Given the description of an element on the screen output the (x, y) to click on. 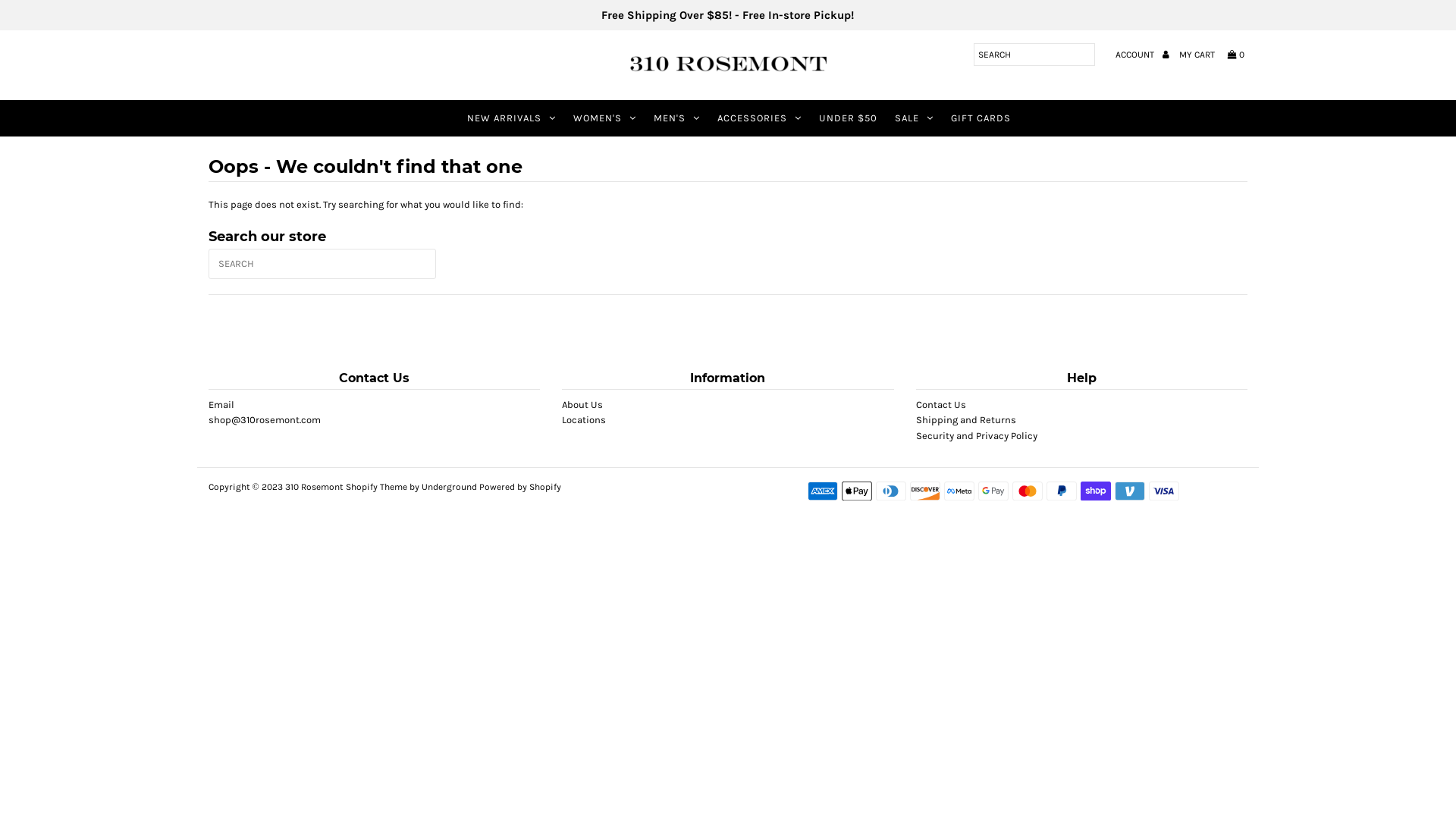
GIFT CARDS Element type: text (980, 118)
ACCESSORIES Element type: text (759, 118)
SALE Element type: text (914, 118)
Email Element type: text (221, 406)
Powered by Shopify Element type: text (520, 488)
310 Rosemont Element type: text (314, 488)
Locations Element type: text (583, 421)
Contact Us Element type: text (941, 406)
Shipping and Returns Element type: text (966, 421)
MEN'S Element type: text (676, 118)
About Us Element type: text (581, 406)
shop@310rosemont.com Element type: text (264, 421)
MY CART   0 Element type: text (1211, 54)
UNDER $50 Element type: text (847, 118)
WOMEN'S Element type: text (604, 118)
Shopify Theme Element type: text (376, 488)
Security and Privacy Policy Element type: text (976, 437)
NEW ARRIVALS Element type: text (511, 118)
ACCOUNT Element type: text (1142, 54)
